Given the description of an element on the screen output the (x, y) to click on. 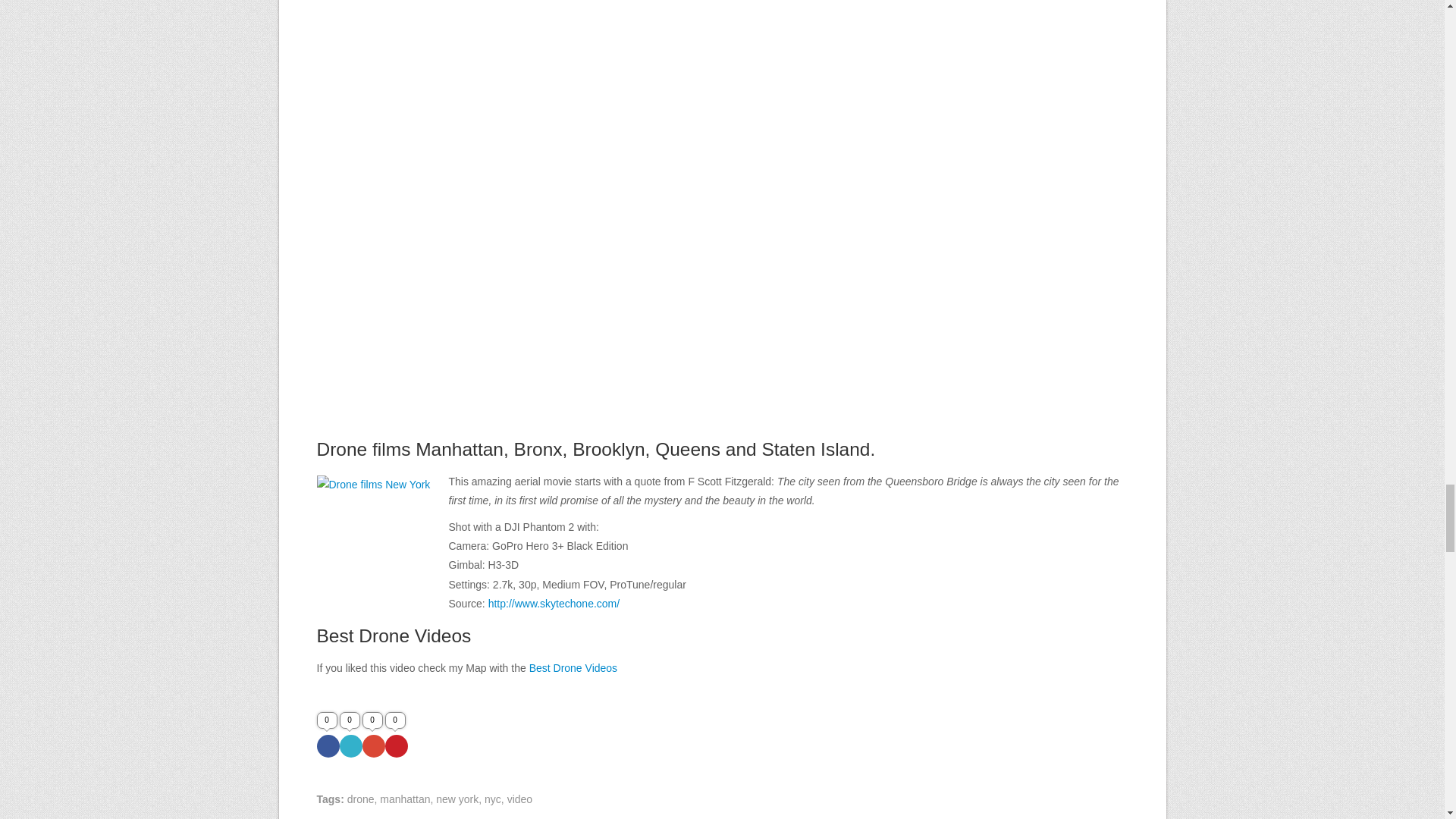
Website Sky Tech One (553, 603)
Best Drone Video's plotted on a map (573, 667)
Drone films New York (373, 531)
